Given the description of an element on the screen output the (x, y) to click on. 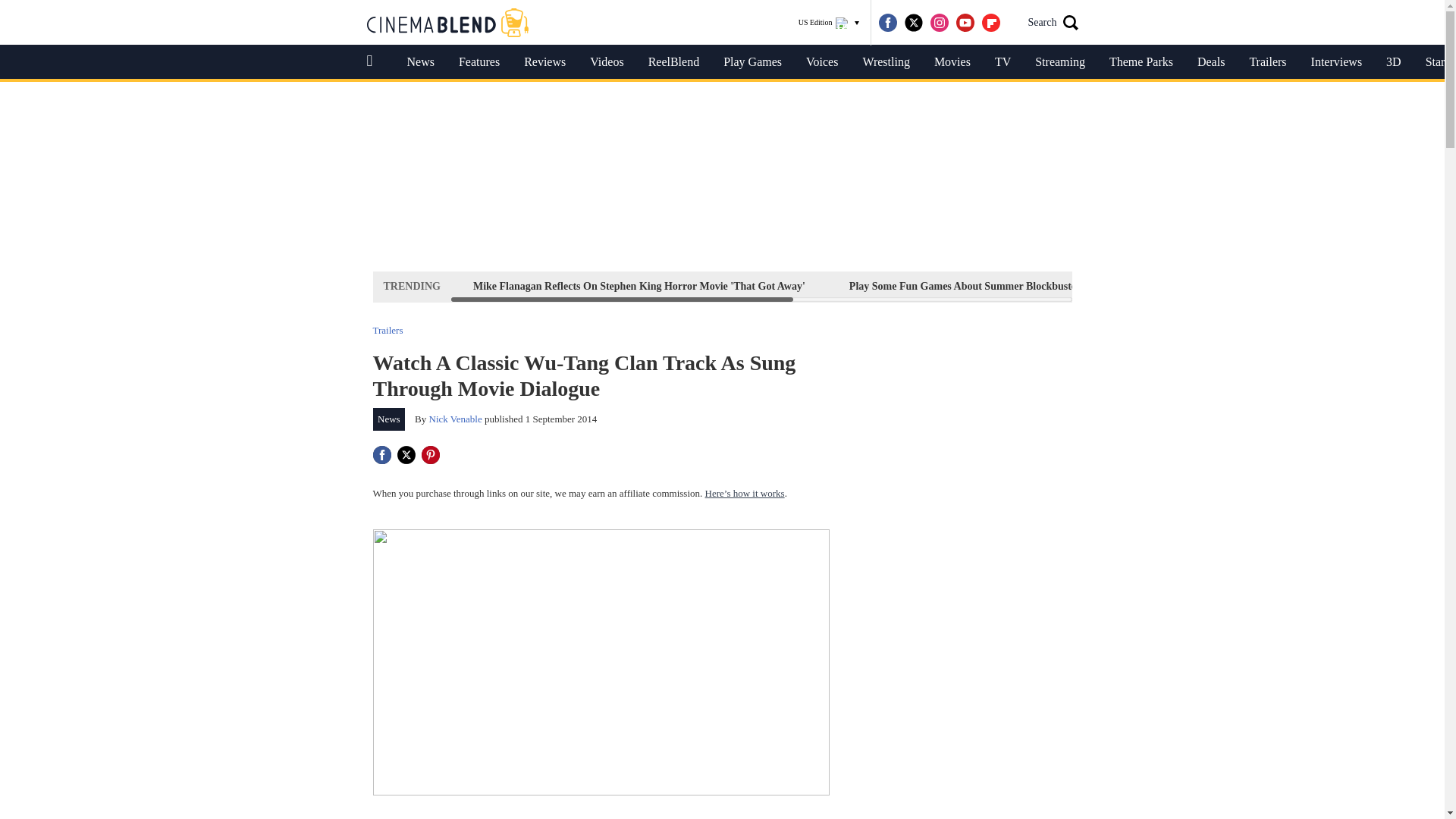
Voices (821, 61)
Features (479, 61)
Trailers (387, 329)
TV (1002, 61)
Videos (606, 61)
Streaming (1060, 61)
Upcoming Marvel Movies (1336, 286)
3D (1393, 61)
Interviews (1336, 61)
